Given the description of an element on the screen output the (x, y) to click on. 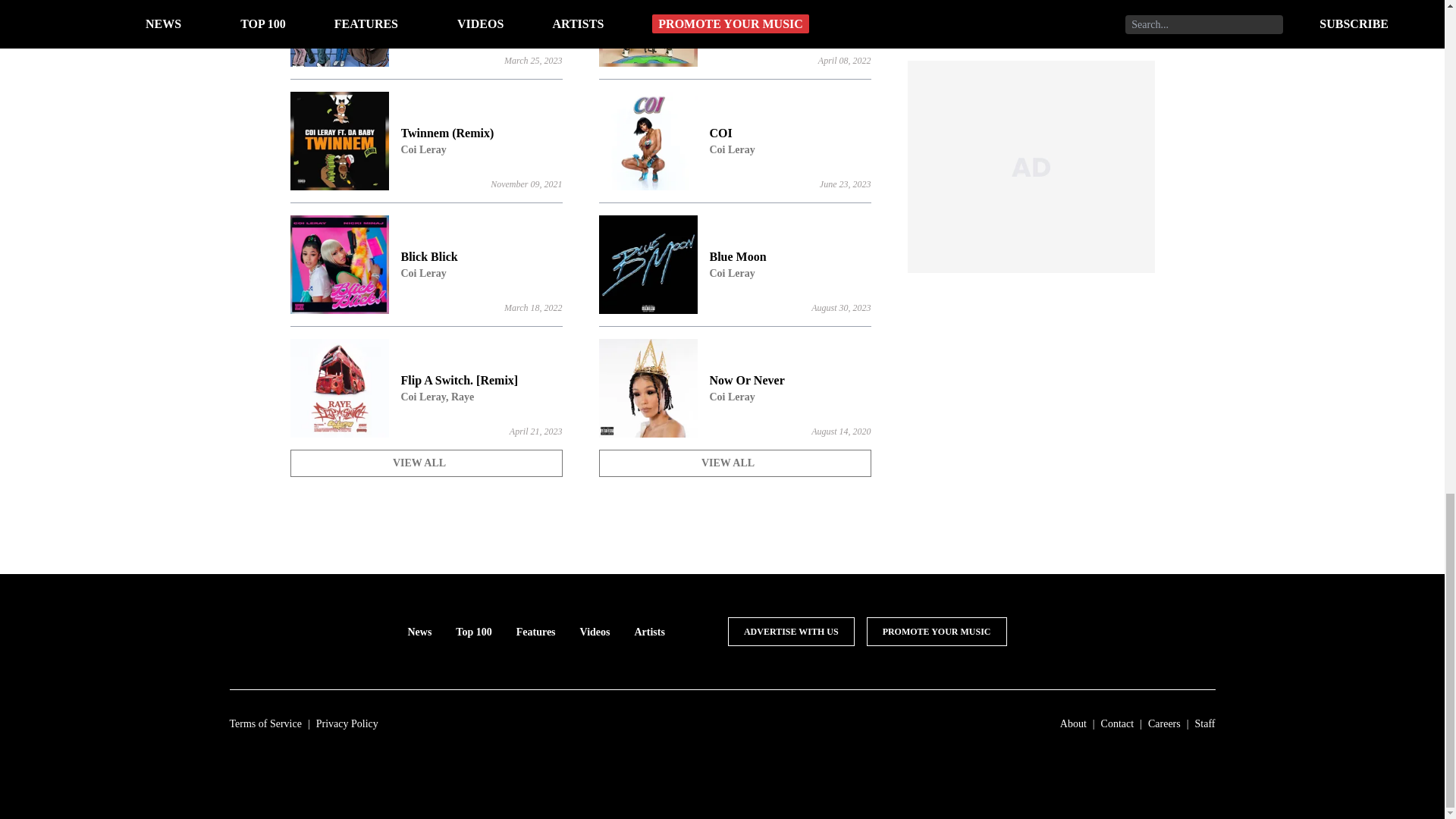
August 30, 2023 (734, 140)
March 18, 2022 (840, 307)
VIEW ALL (532, 307)
June 23, 2023 (734, 388)
April 08, 2022 (734, 462)
November 09, 2021 (734, 33)
March 25, 2023 (844, 184)
VIEW ALL (844, 60)
April 21, 2023 (526, 184)
August 14, 2020 (734, 264)
